Given the description of an element on the screen output the (x, y) to click on. 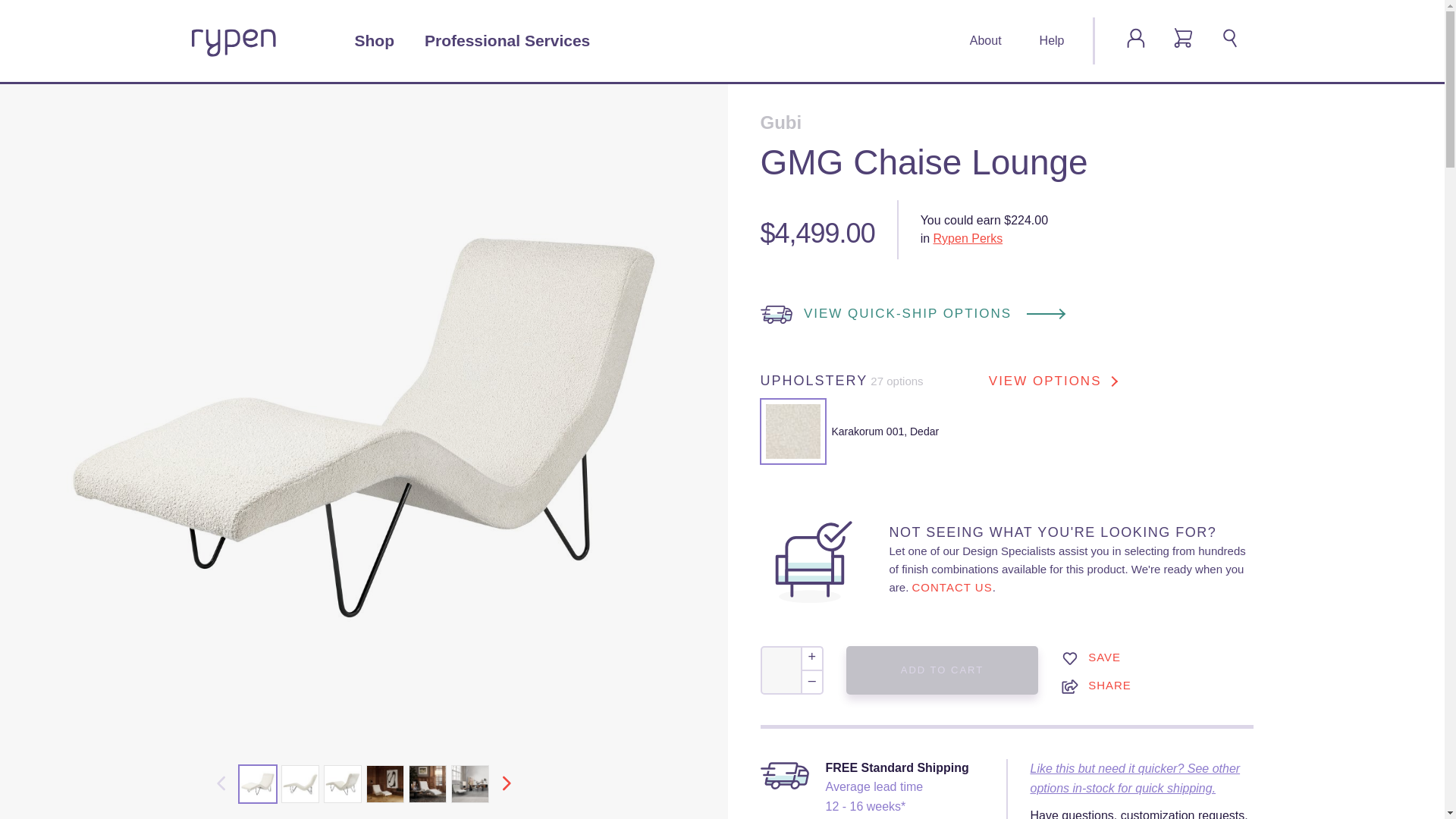
Shop (374, 40)
